Given the description of an element on the screen output the (x, y) to click on. 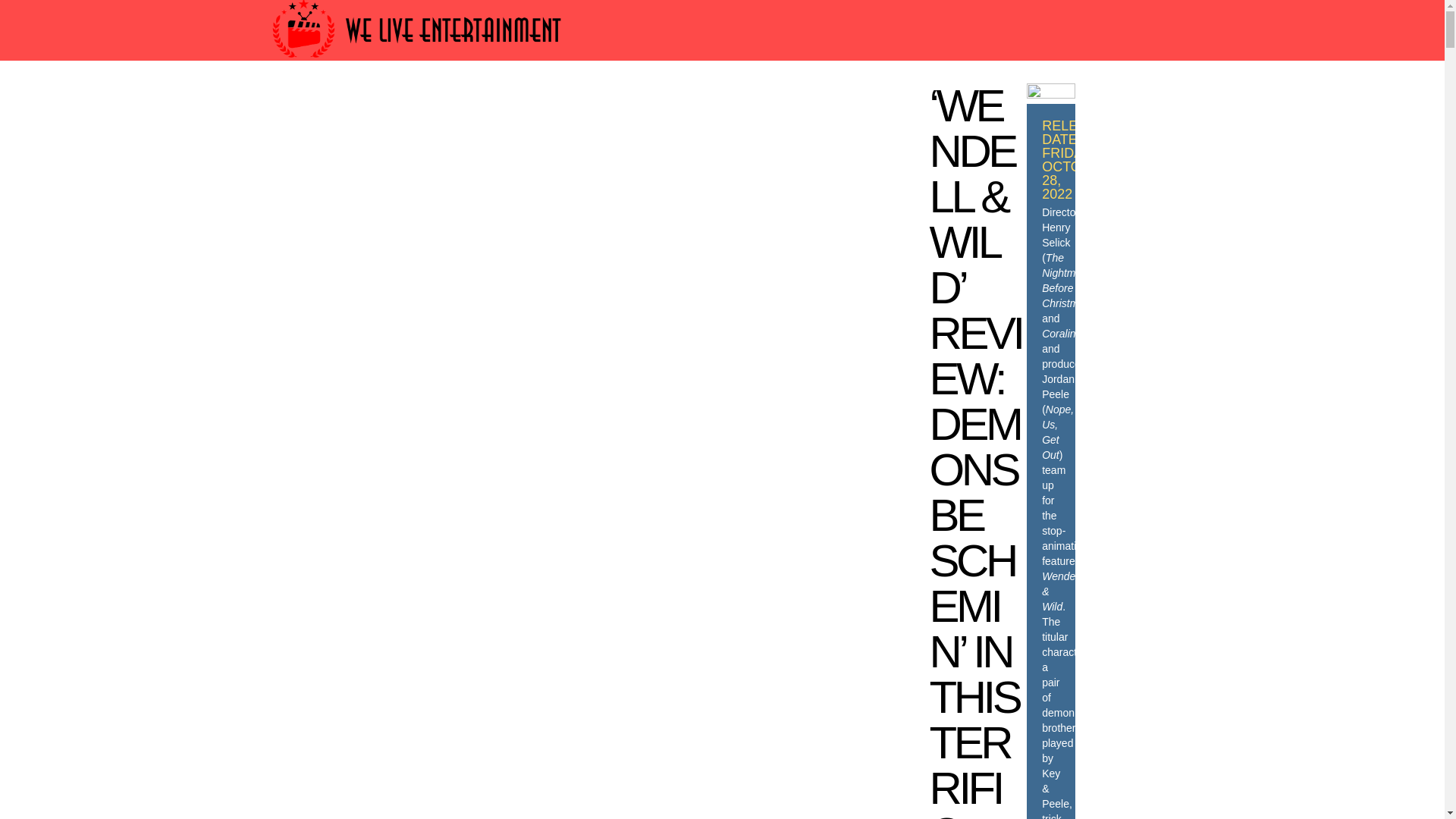
WE LIVE AWARDS (421, 103)
We Live Entertainment (418, 63)
WE LIVE TV SHOWS (671, 103)
WE LIVE FILM (542, 103)
WE LIVE ENTERTAINMENT (841, 103)
HOME (325, 103)
